Given the description of an element on the screen output the (x, y) to click on. 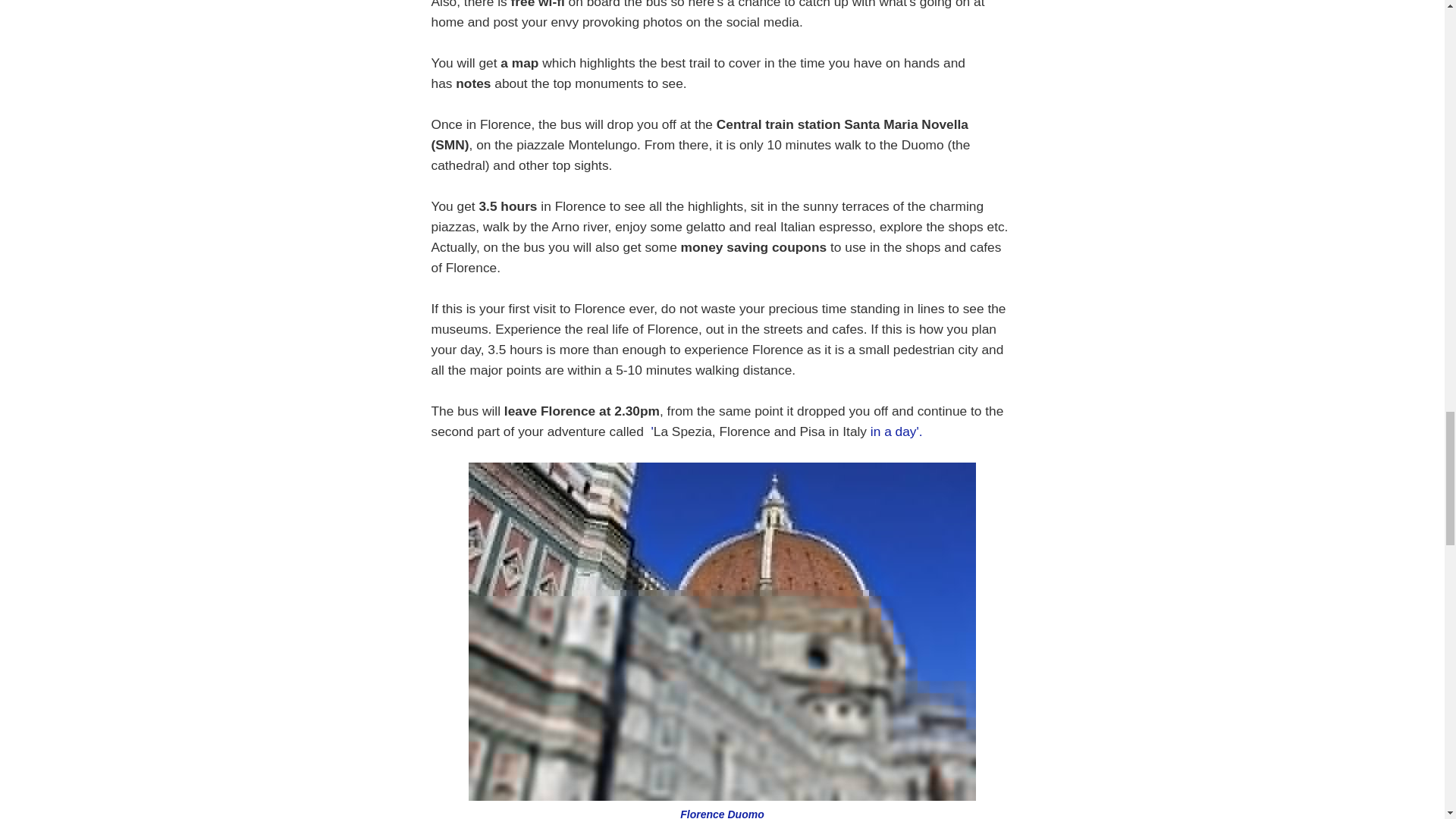
Florence Duomo (721, 803)
'La Spezia, Florence and Pisa in Italy in a day'. (785, 431)
